Given the description of an element on the screen output the (x, y) to click on. 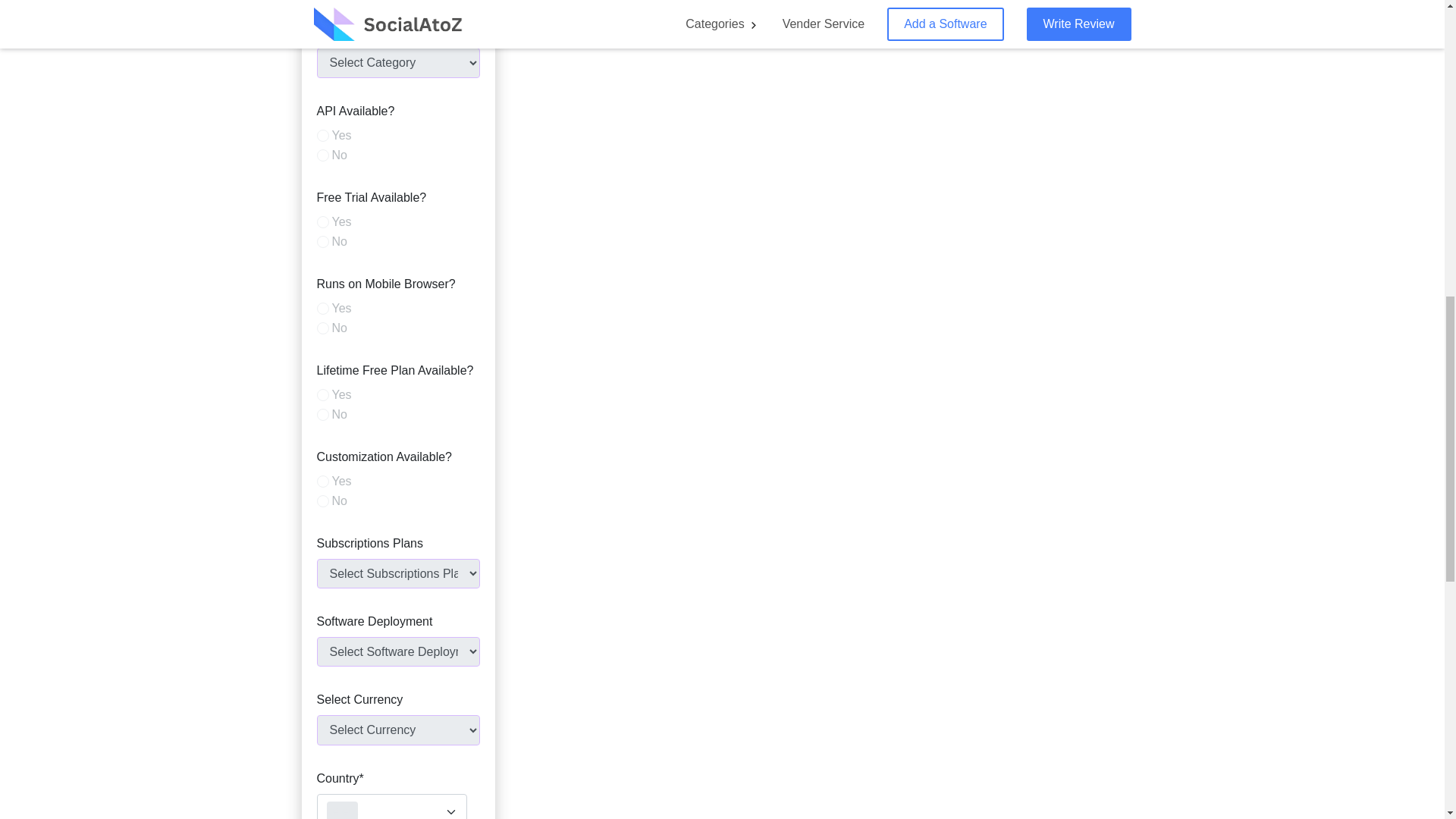
no (323, 500)
no (323, 241)
yes (323, 481)
no (323, 414)
yes (323, 135)
yes (323, 222)
no (323, 155)
no (323, 328)
yes (323, 308)
yes (323, 395)
